Given the description of an element on the screen output the (x, y) to click on. 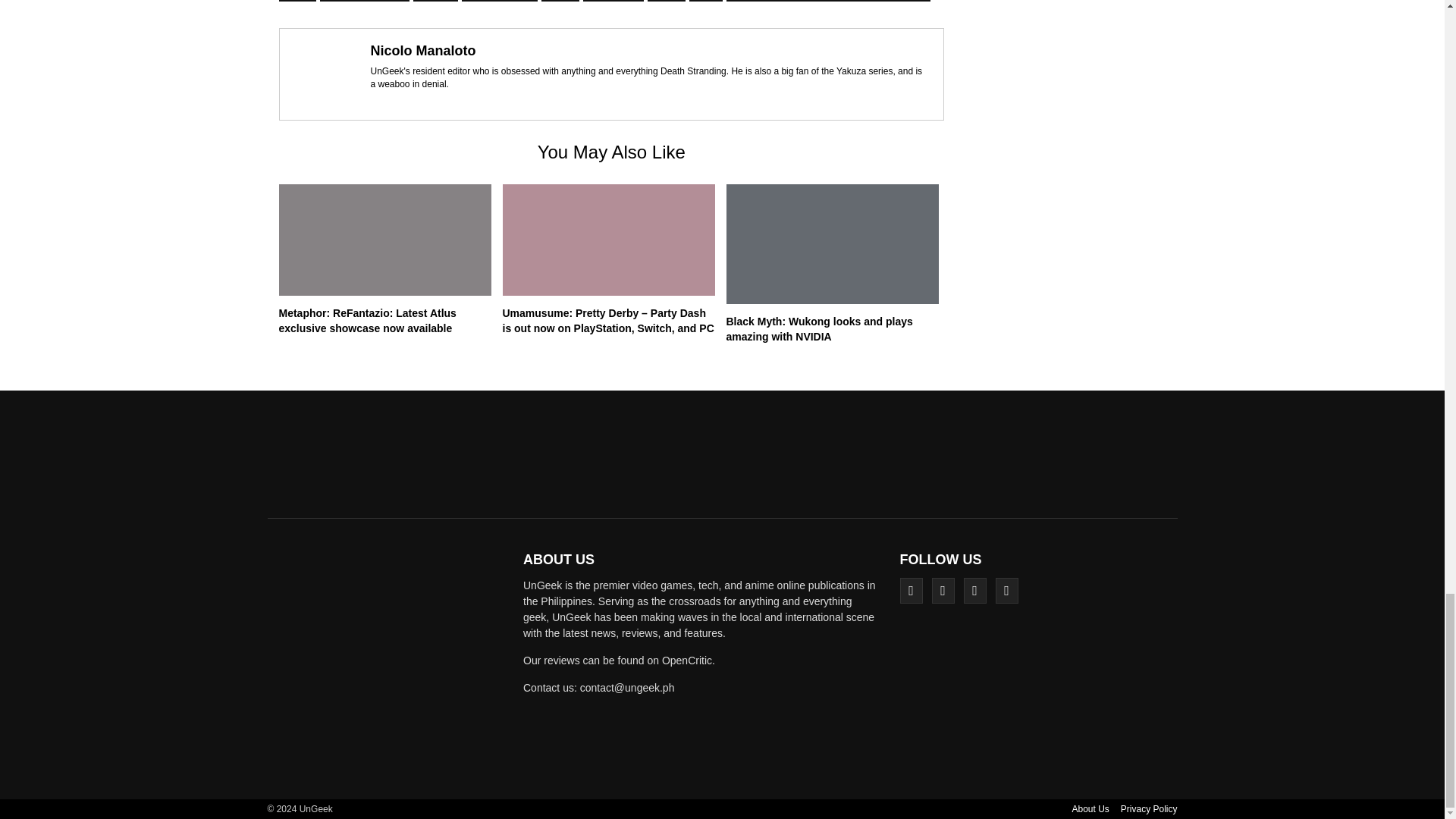
UnGeek (389, 663)
Mobile (297, 0)
Noriyasu Agematsu (364, 0)
Pre-Reg (435, 0)
